Given the description of an element on the screen output the (x, y) to click on. 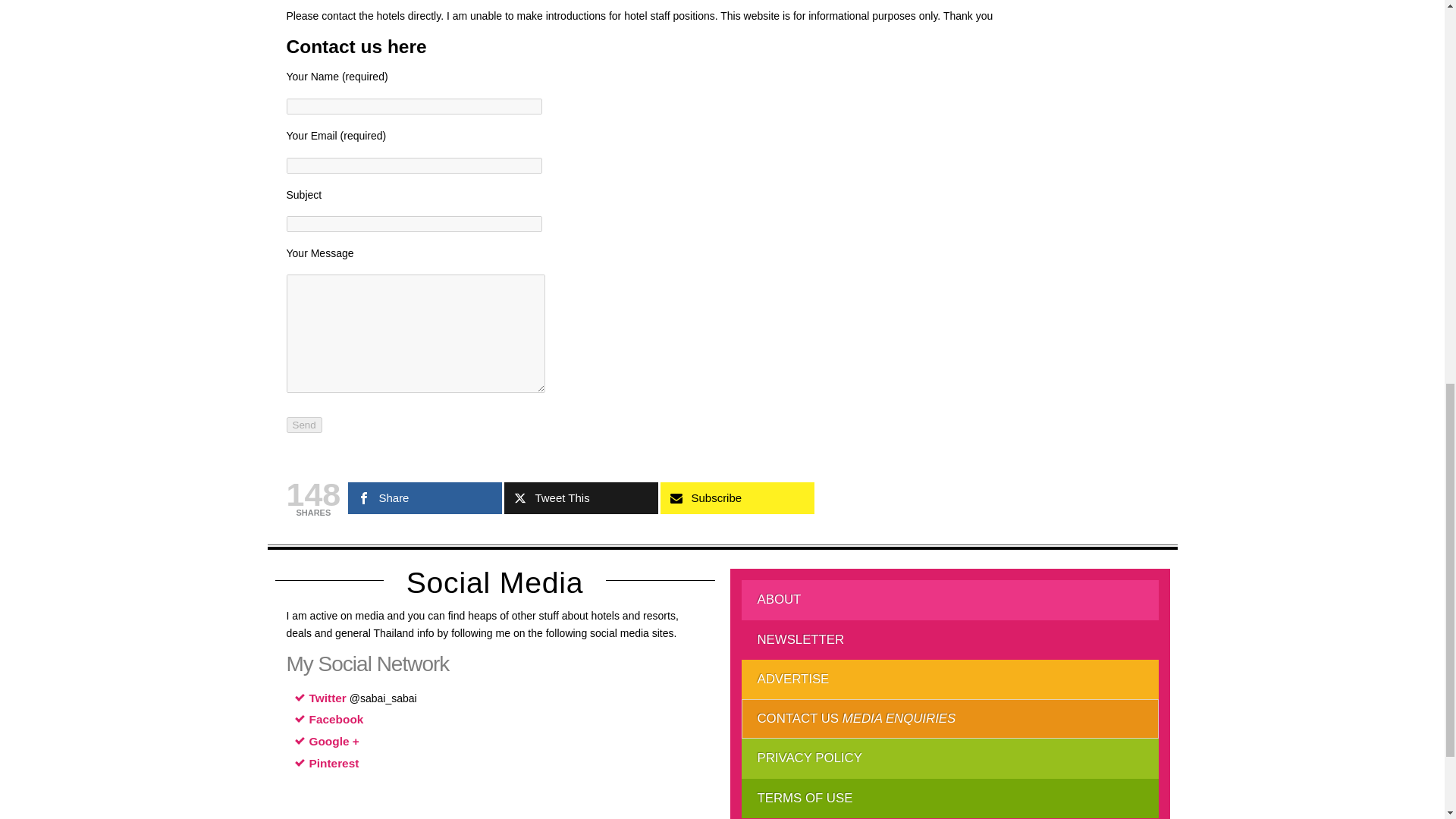
Subscribe (737, 498)
NEWSLETTER (949, 639)
Twitter (327, 698)
Facebook (336, 719)
PRIVACY POLICY (949, 758)
Tweet This (580, 498)
Send (303, 424)
Send (303, 424)
ADVERTISE (949, 679)
TERMS OF USE (949, 798)
